Given the description of an element on the screen output the (x, y) to click on. 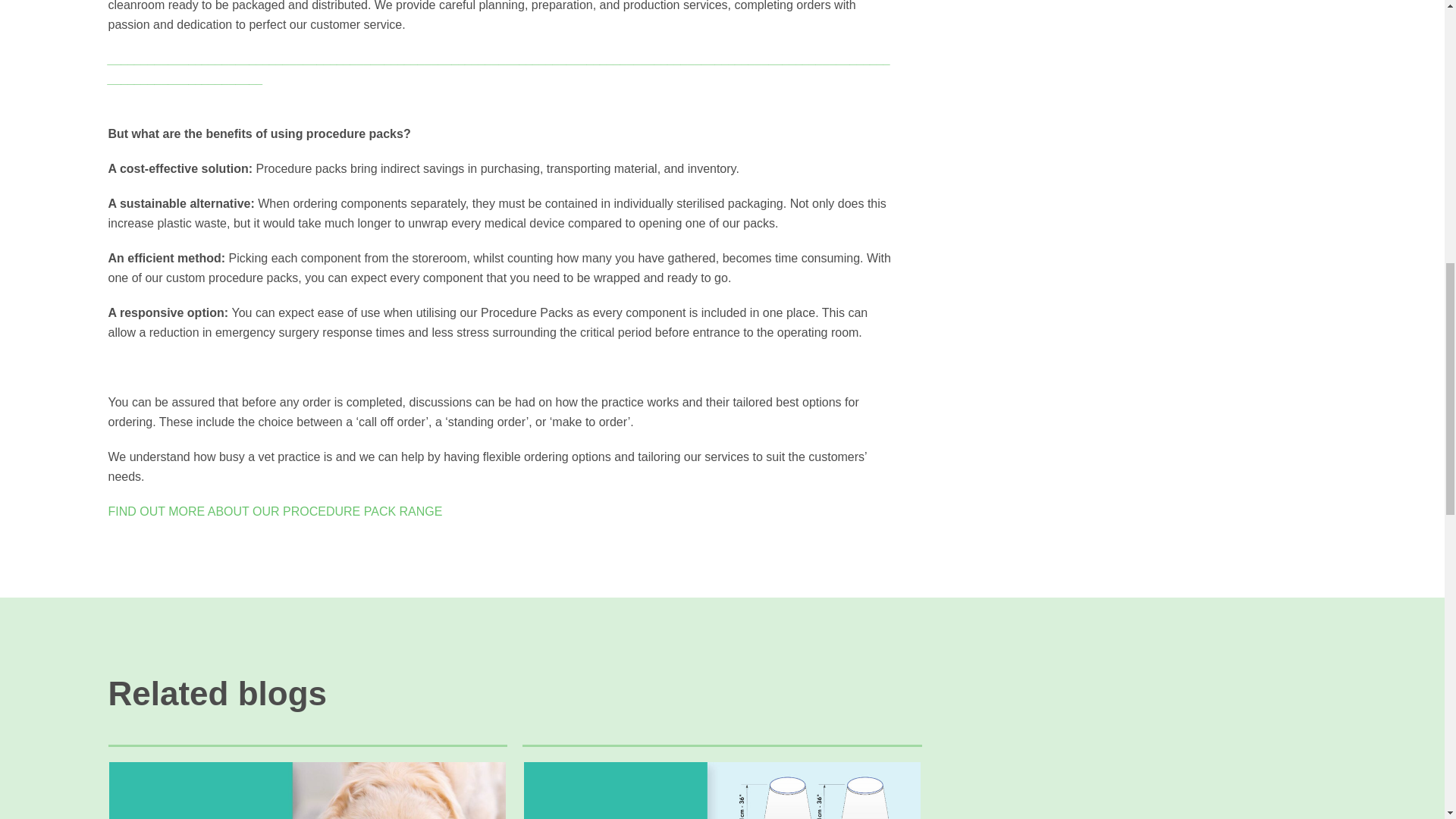
FIND OUT MORE ABOUT OUR PROCEDURE PACK RANGE (274, 511)
